Given the description of an element on the screen output the (x, y) to click on. 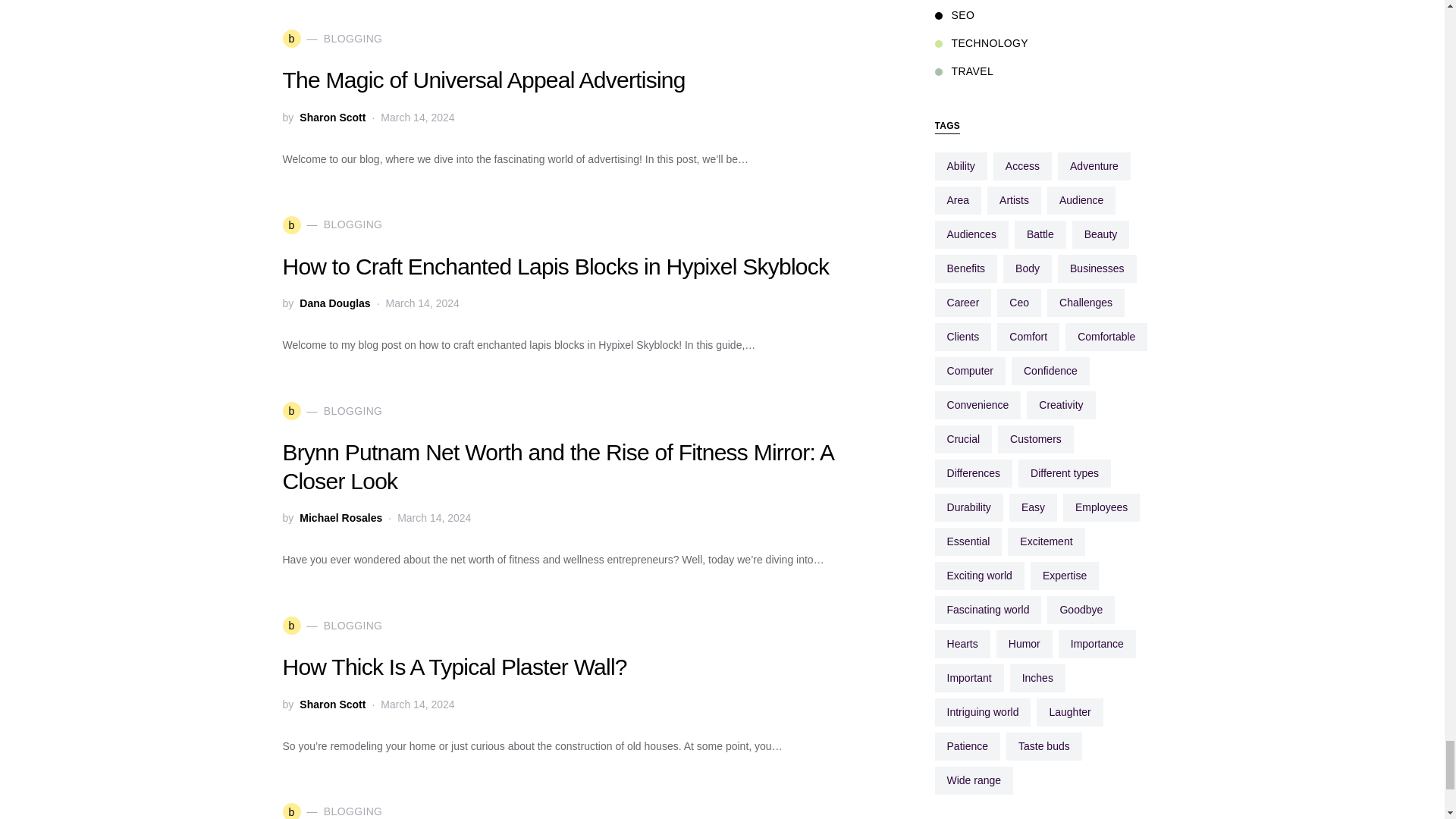
View all posts by Michael Rosales (340, 517)
View all posts by Dana Douglas (334, 302)
View all posts by Sharon Scott (332, 703)
View all posts by Sharon Scott (332, 117)
